Given the description of an element on the screen output the (x, y) to click on. 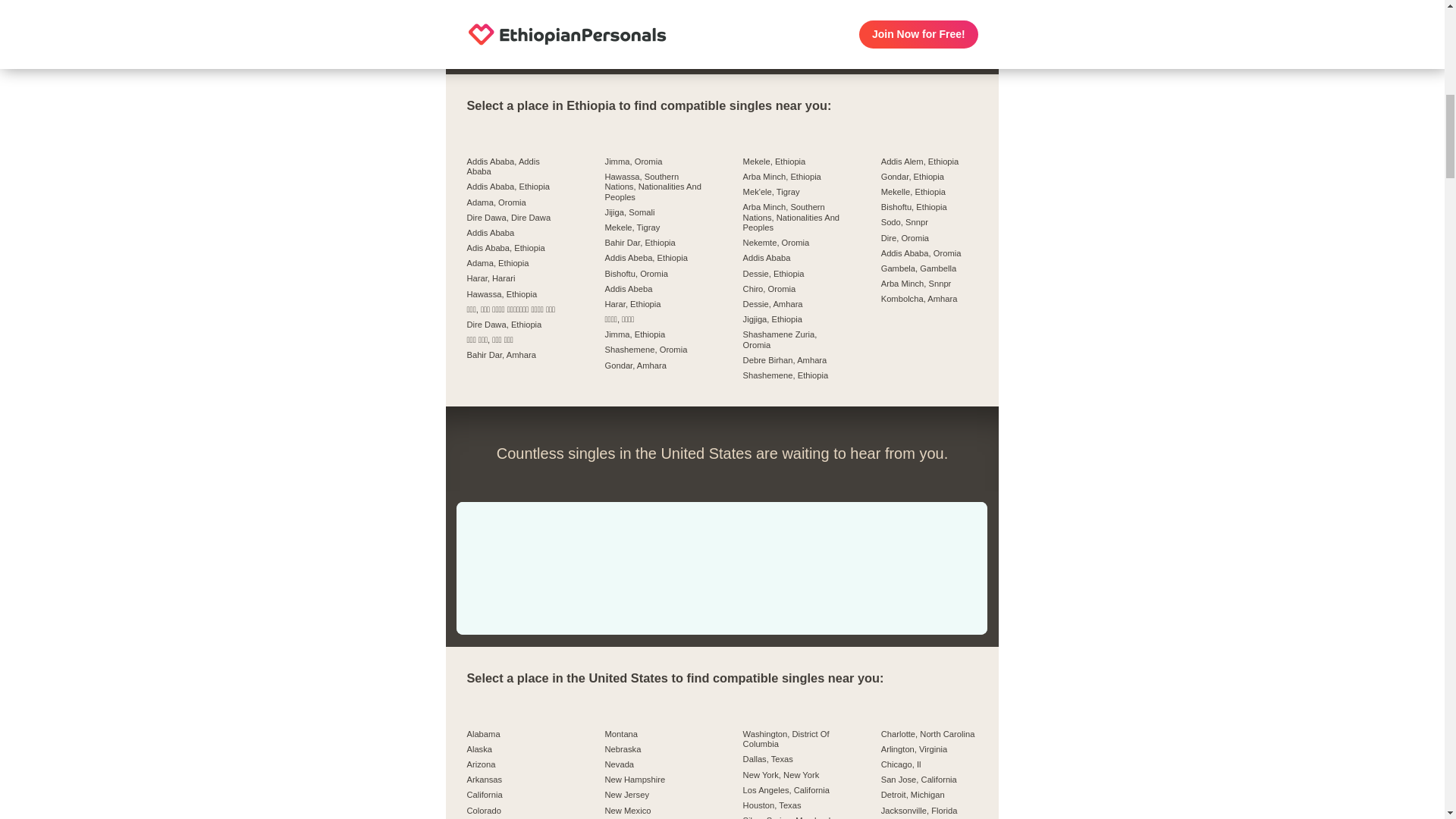
Hawassa, Ethiopia (514, 296)
Single Ethiopian man in Chiro, Oromia, Ethiopia (754, 31)
Addis Abeba (653, 291)
Dire Dawa, Ethiopia (514, 327)
Single Ethiopian man in Dallas, Texas, United States (489, 535)
Bishoftu, Oromia (653, 276)
Adama, Ethiopia (514, 265)
Single Ethiopian man in Sacramento, CA, United States (555, 535)
Adama, Oromia (514, 205)
